Given the description of an element on the screen output the (x, y) to click on. 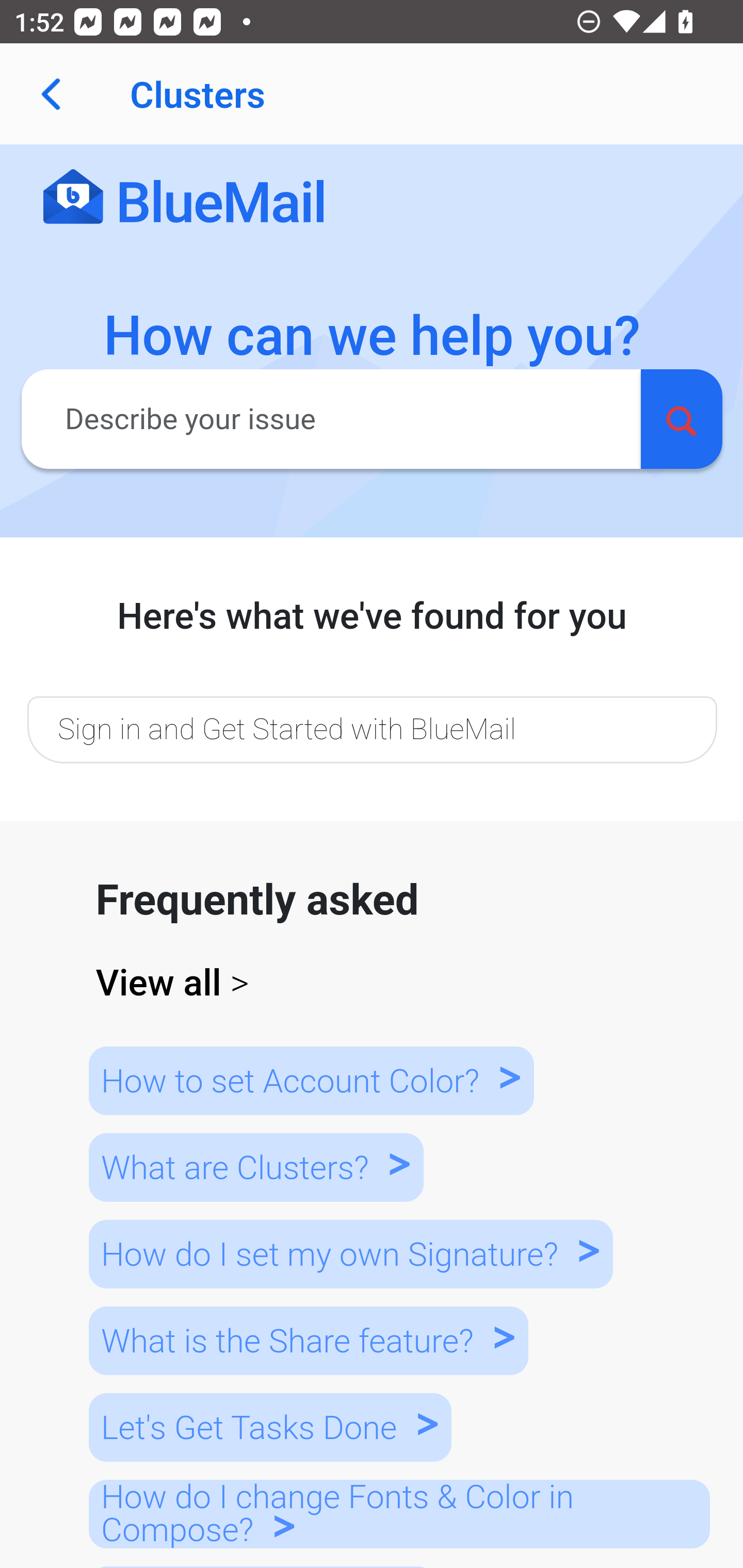
Navigate up (50, 93)
BlueMail Logo (184, 197)
How can we help you? (372, 336)
search (680, 418)
Sign in and Get Started with BlueMail (371, 728)
View all> (372, 982)
How to set Account Color?> (310, 1080)
What are Clusters?> (255, 1166)
How do I set my own Signature?> (349, 1253)
What is the Share feature?> (307, 1340)
Let's Get Tasks Done> (269, 1427)
How do I change Fonts & Color in Compose?> (398, 1513)
